Given the description of an element on the screen output the (x, y) to click on. 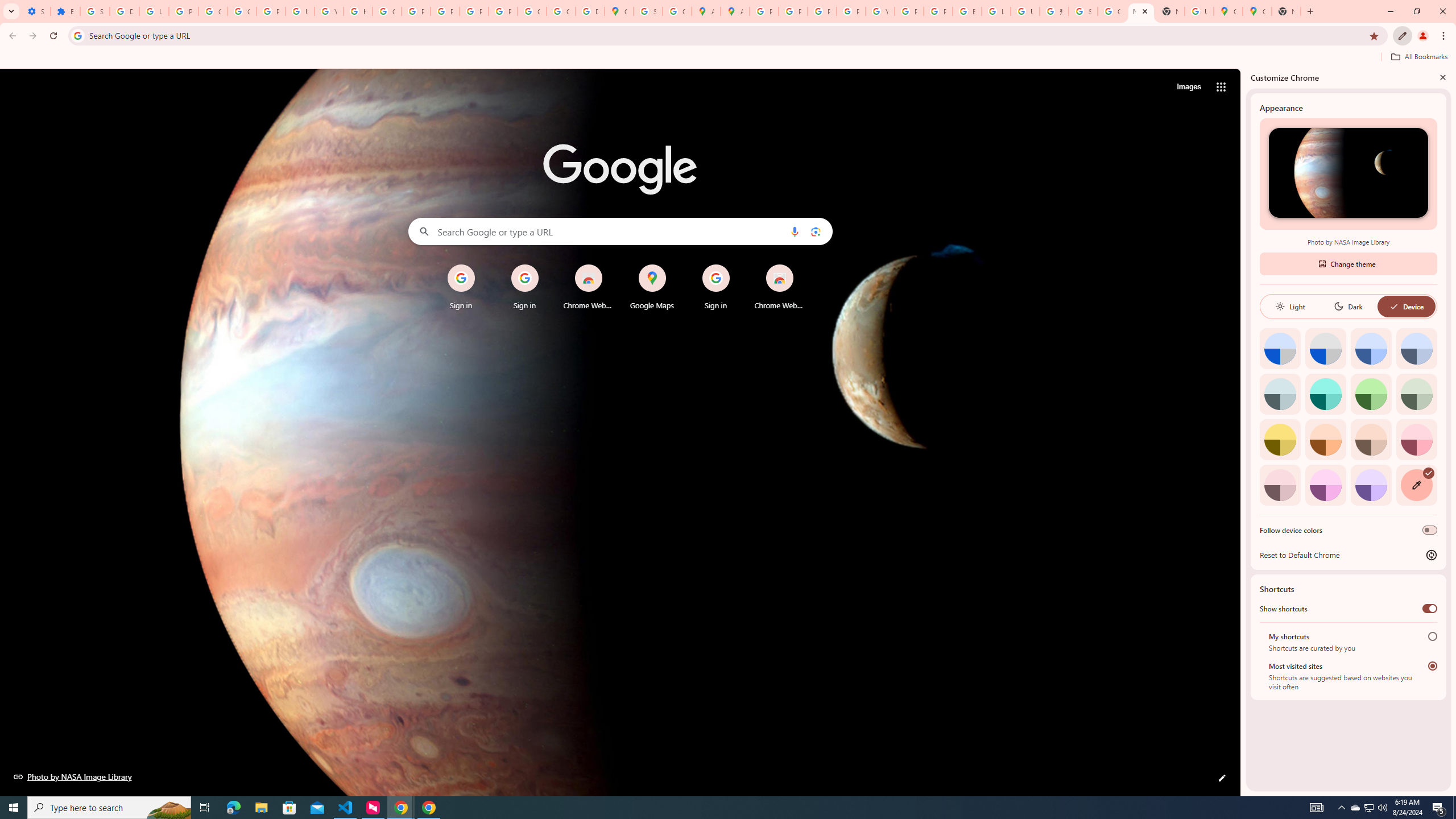
Chrome Web Store (778, 287)
Google Maps (1256, 11)
Viridian (1416, 393)
Reset to Default Chrome (1347, 554)
New Tab (1286, 11)
Dark (1348, 305)
Delete photos & videos - Computer - Google Photos Help (124, 11)
Privacy Help Center - Policies Help (821, 11)
